Given the description of an element on the screen output the (x, y) to click on. 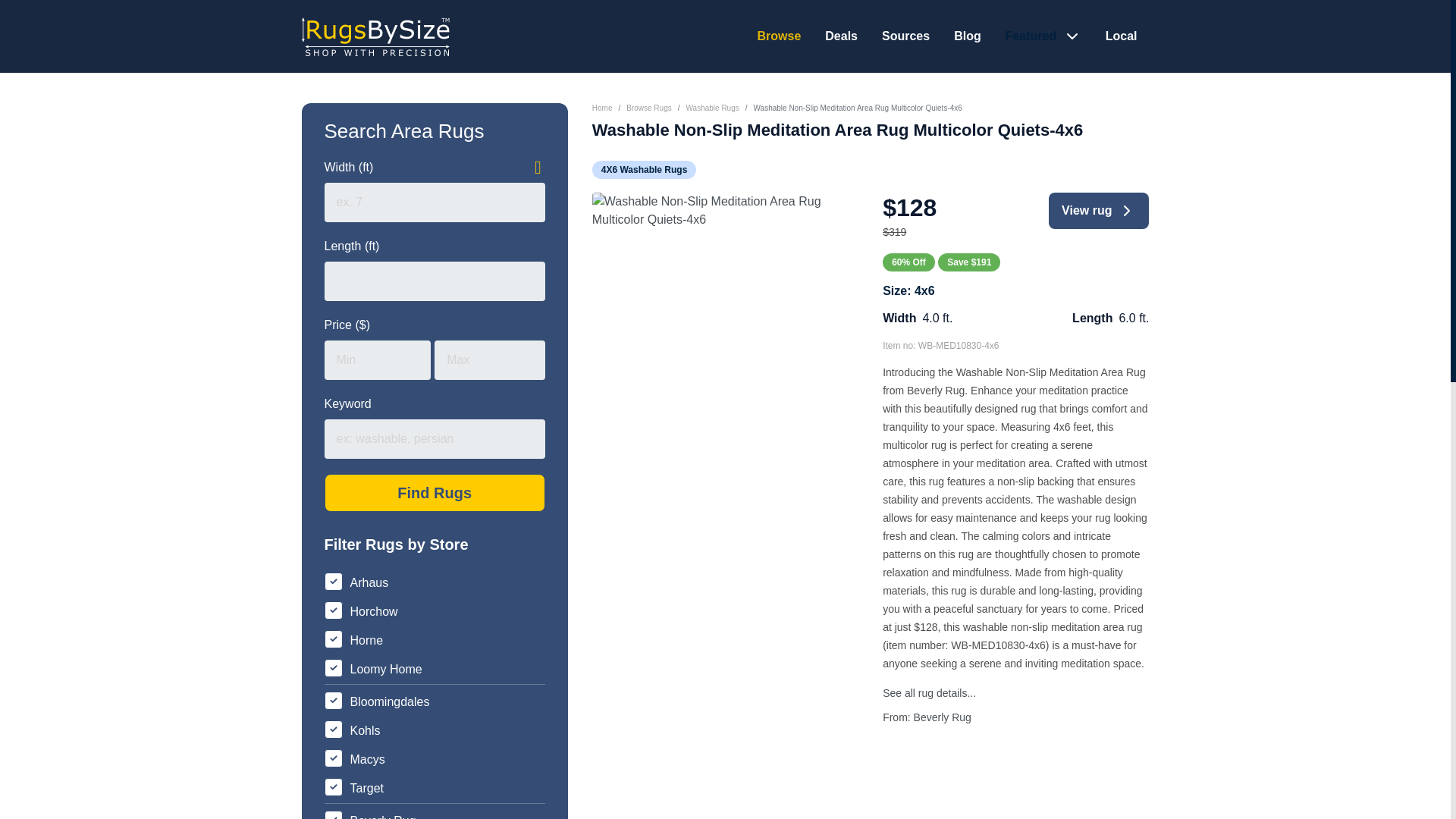
View rug (1098, 210)
Beverly Rug (942, 717)
Deals (841, 35)
Washable Rugs (711, 108)
See all rug details... (928, 693)
Local (1121, 35)
Find Rugs (434, 492)
Home (602, 108)
Browse Rugs (648, 108)
Sources (906, 35)
Featured (1032, 35)
Browse (778, 35)
Blog (967, 35)
